Given the description of an element on the screen output the (x, y) to click on. 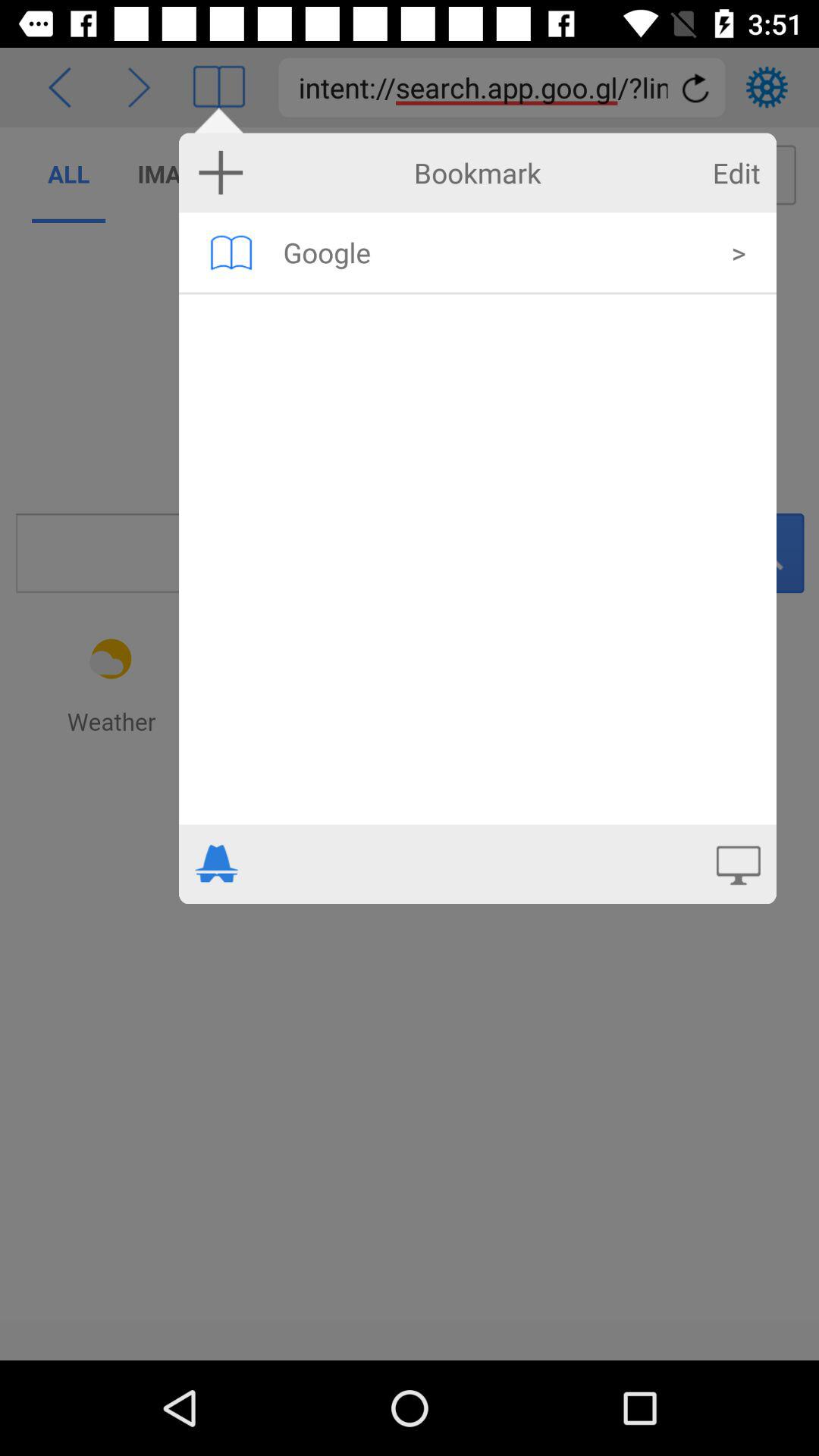
click to add symbol (220, 172)
